Given the description of an element on the screen output the (x, y) to click on. 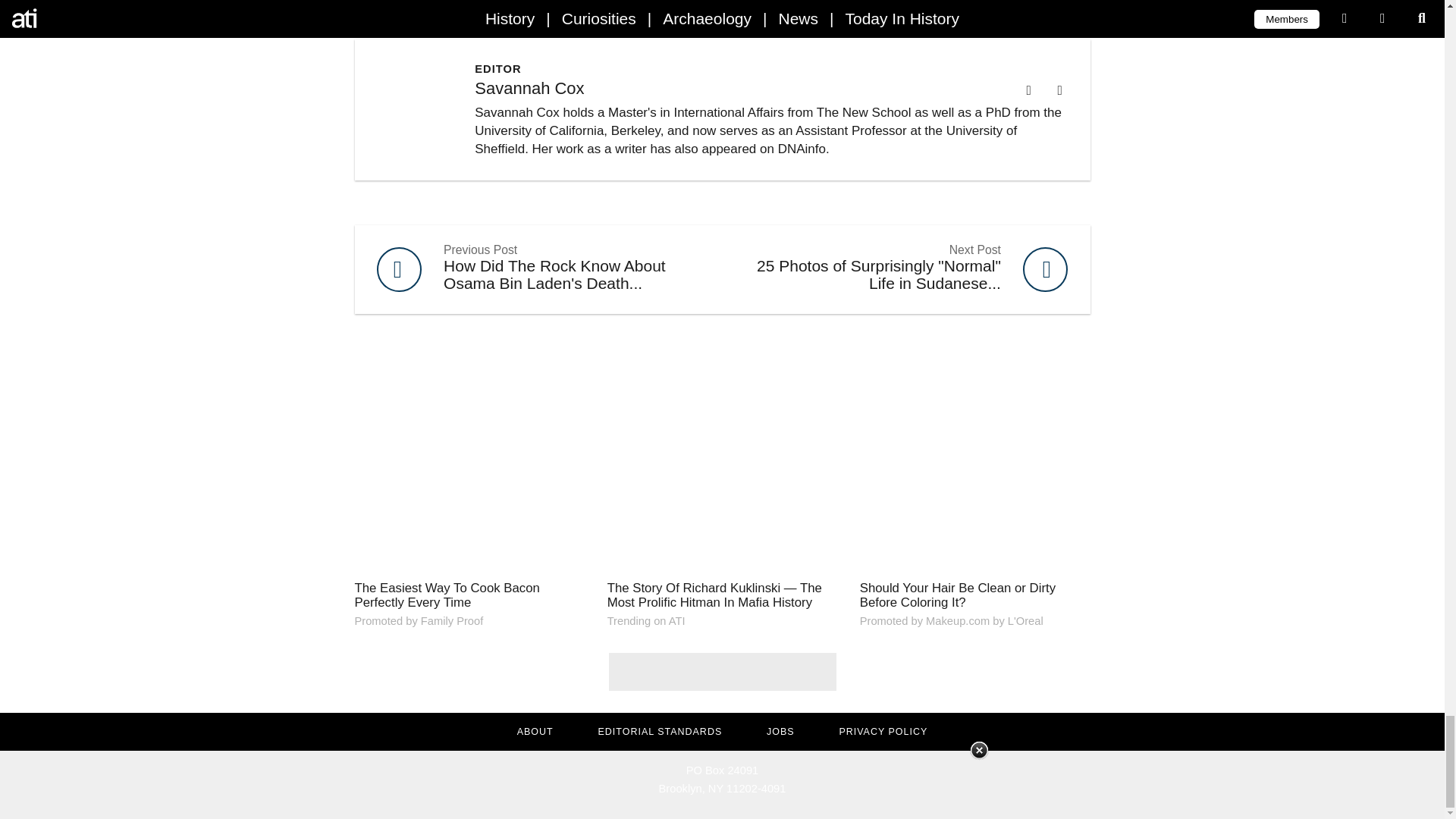
25 Photos of Surprisingly  (905, 269)
Savannah Cox (528, 87)
